Given the description of an element on the screen output the (x, y) to click on. 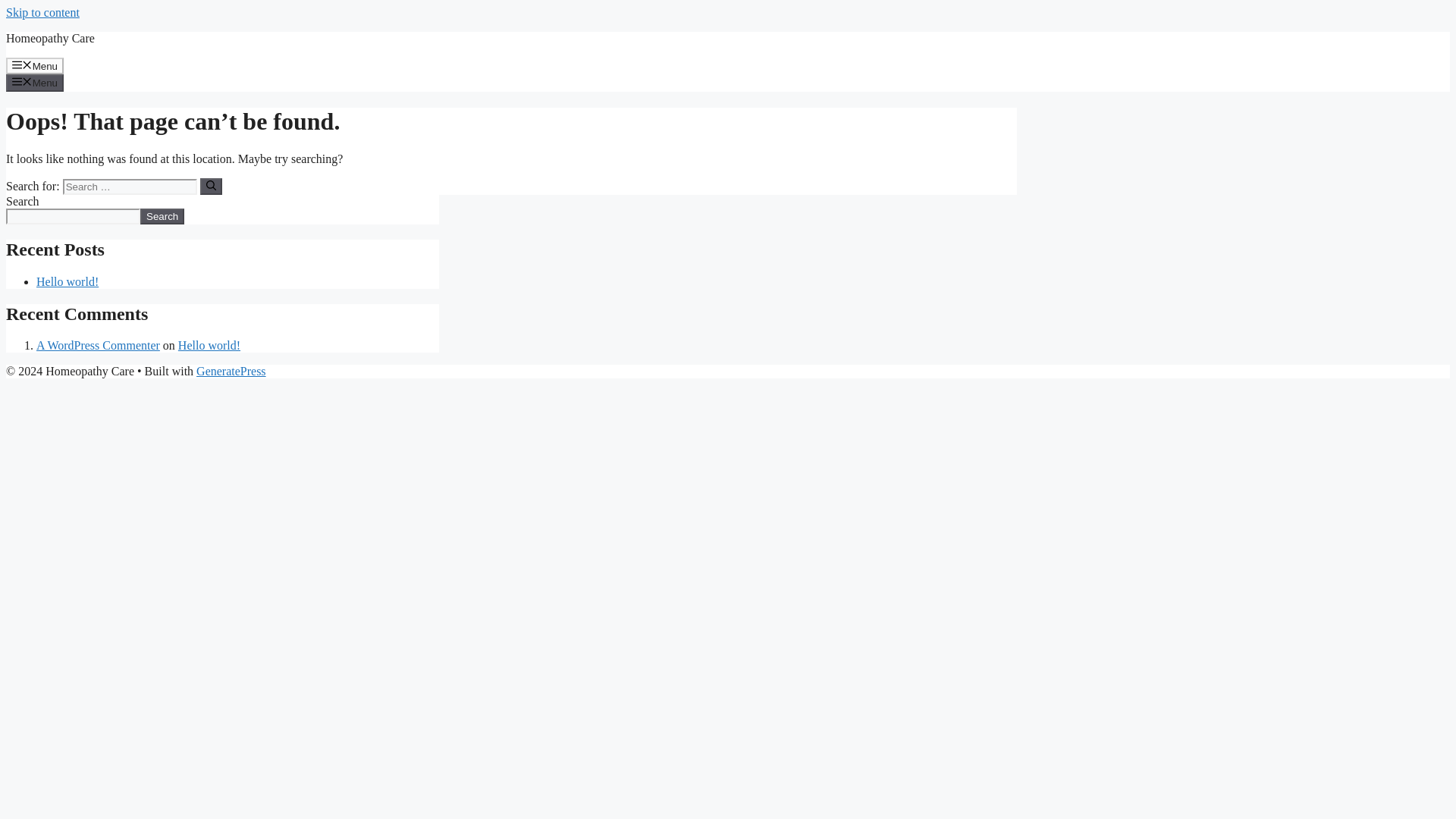
Hello world! (208, 345)
Skip to content (42, 11)
Homeopathy Care (49, 38)
Search for: (129, 186)
Menu (34, 82)
Search (161, 216)
Menu (34, 65)
A WordPress Commenter (98, 345)
Hello world! (67, 281)
Skip to content (42, 11)
